Given the description of an element on the screen output the (x, y) to click on. 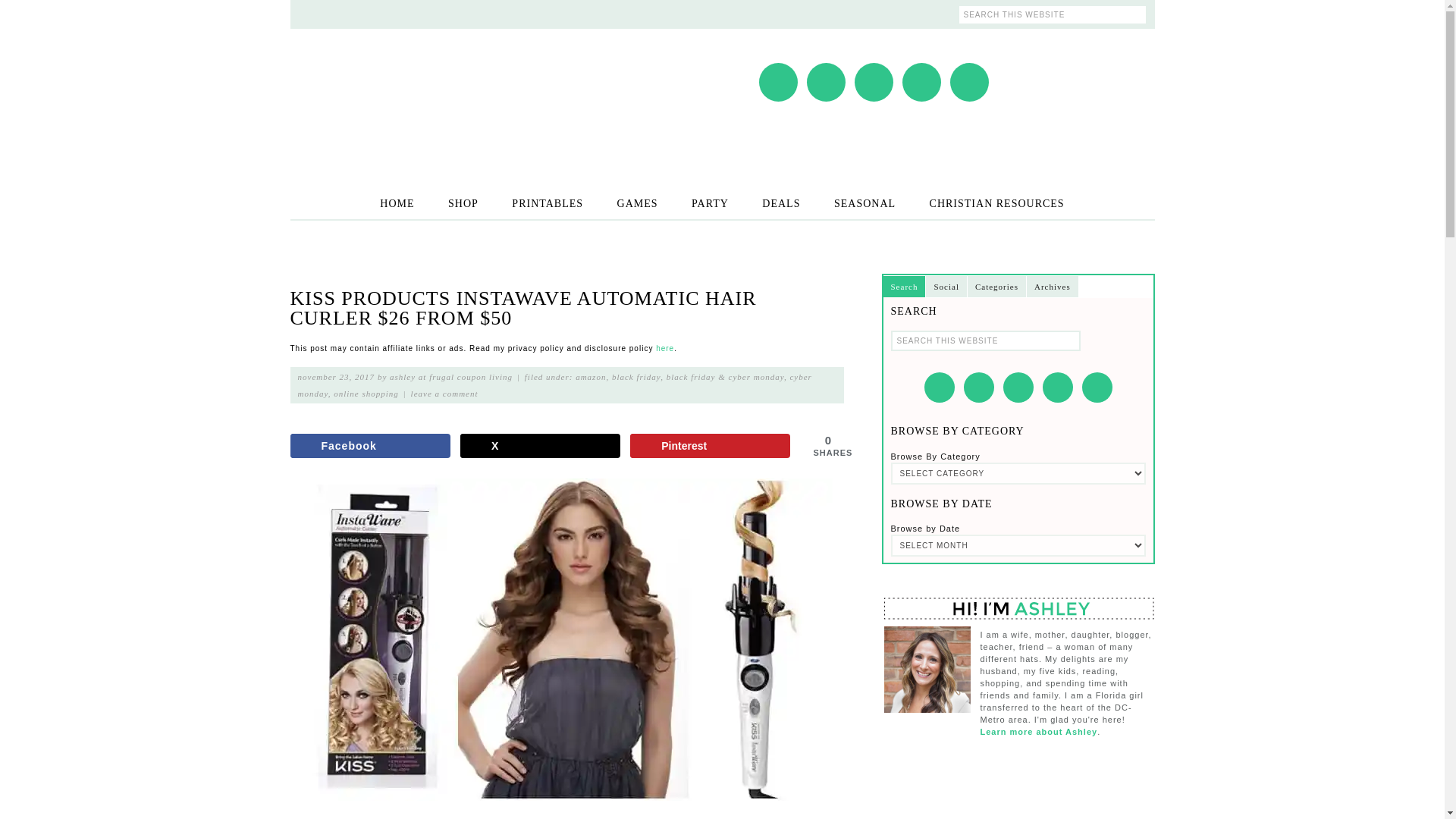
HOME (397, 203)
Frugal Coupon Living (441, 90)
SEASONAL (864, 203)
GAMES (637, 203)
SHOP (462, 203)
Share on Facebook (369, 445)
Share on X (540, 445)
